Given the description of an element on the screen output the (x, y) to click on. 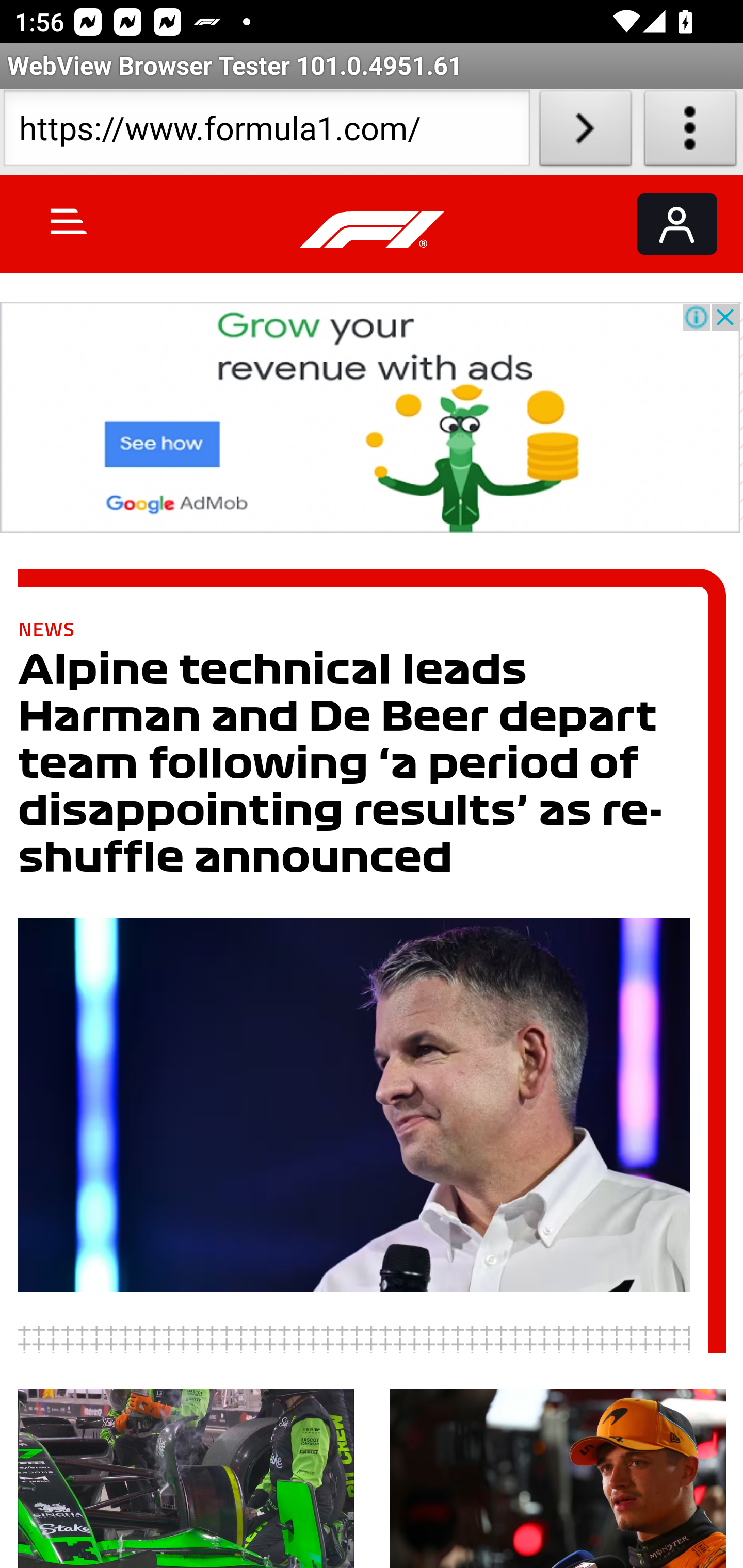
https://www.formula1.com/ (266, 132)
Load URL (585, 132)
About WebView (690, 132)
Toggle Menu (68, 220)
Formula 1 (372, 230)
 Login/Register  Login/Register (677, 223)
